Given the description of an element on the screen output the (x, y) to click on. 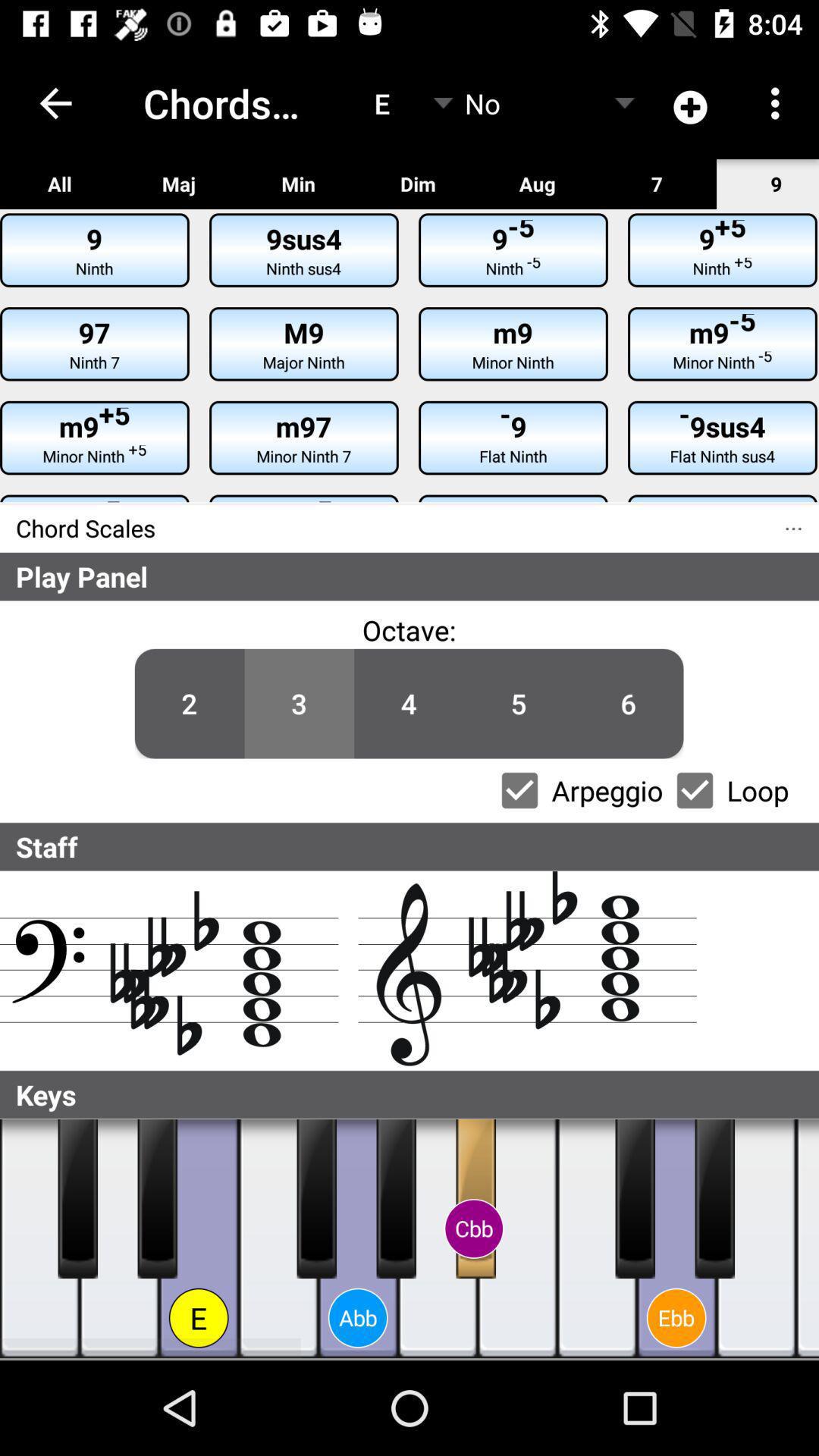
d /eb (157, 1198)
